Given the description of an element on the screen output the (x, y) to click on. 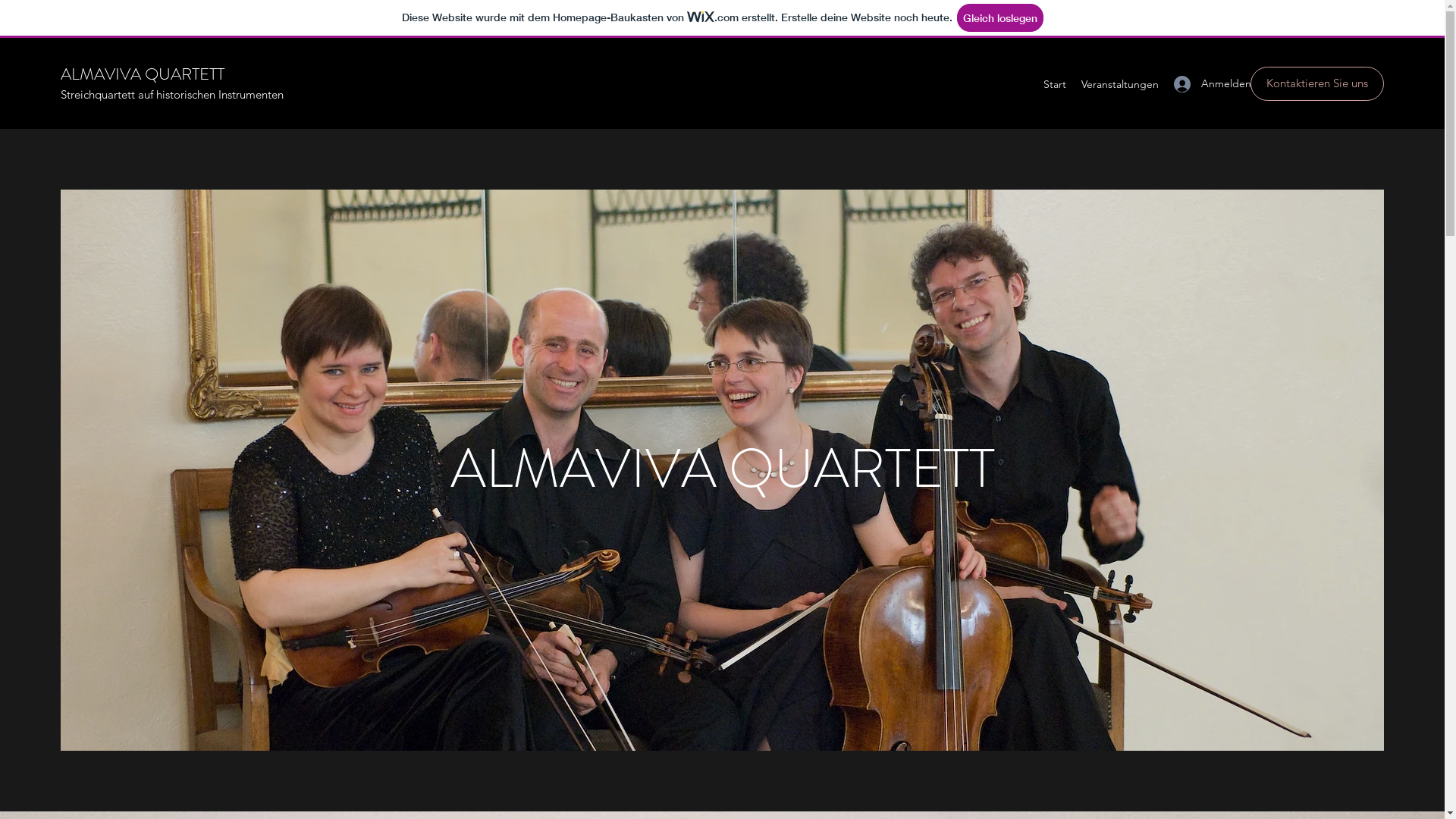
ALMAVIVA QUARTETT Element type: text (142, 73)
Veranstaltungen Element type: text (1119, 83)
Anmelden Element type: text (1197, 83)
Start Element type: text (1054, 83)
Kontaktieren Sie uns Element type: text (1316, 83)
